Given the description of an element on the screen output the (x, y) to click on. 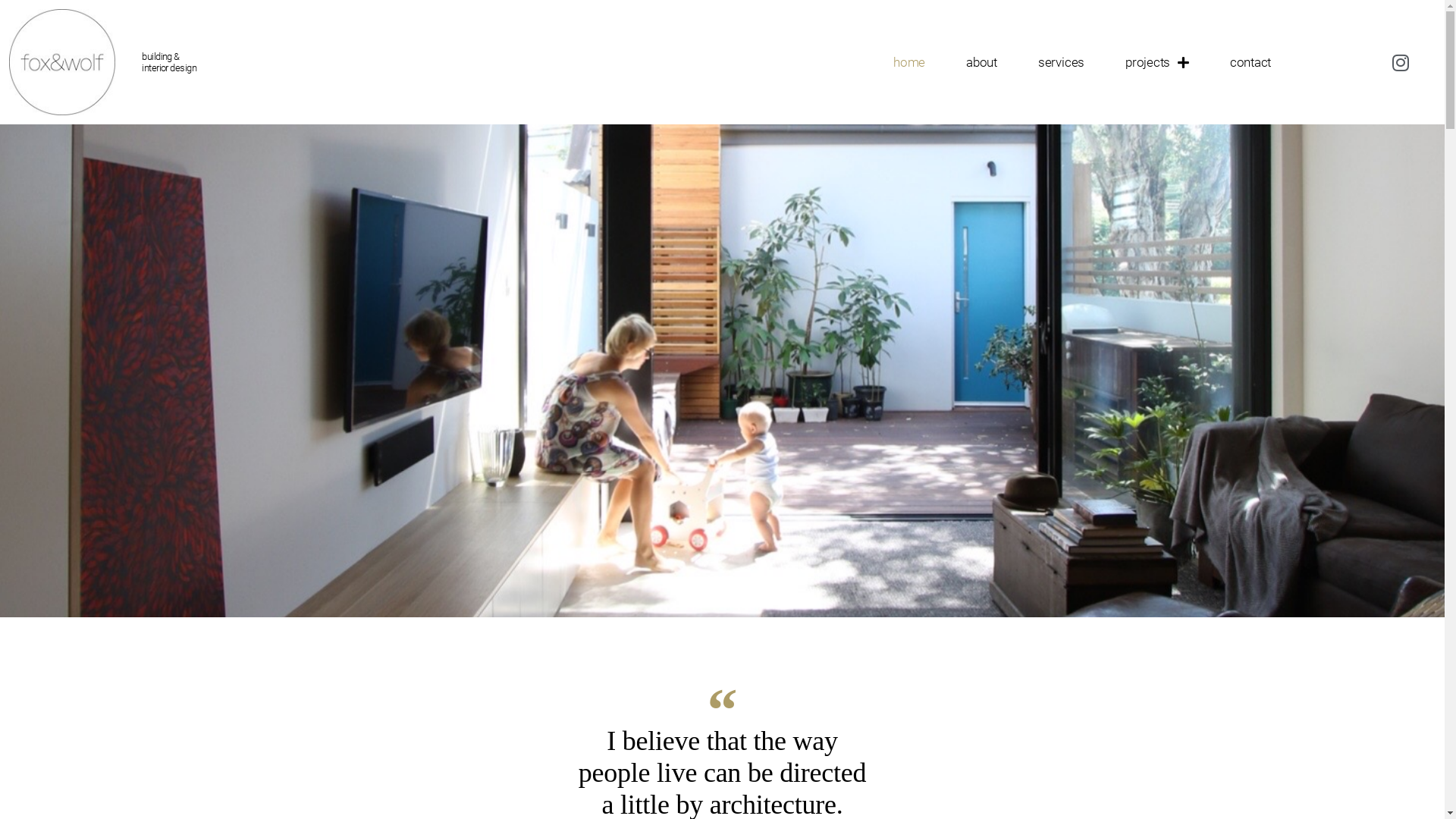
projects Element type: text (1156, 61)
about Element type: text (981, 61)
home Element type: text (908, 61)
services Element type: text (1060, 61)
contact Element type: text (1250, 61)
